Given the description of an element on the screen output the (x, y) to click on. 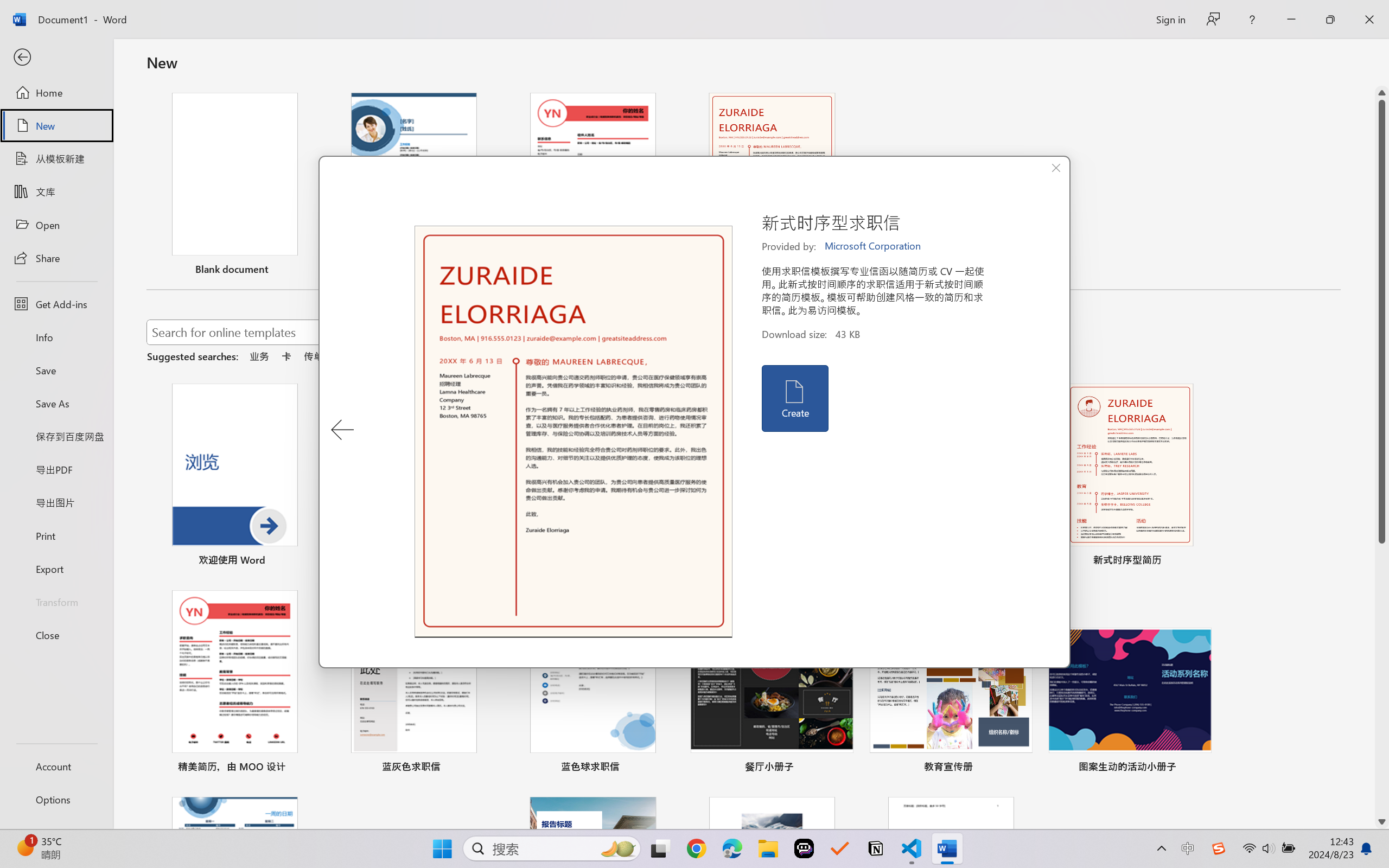
Search for online templates (389, 333)
Transform (56, 601)
Blank document (234, 185)
Line down (1382, 821)
Previous Template (342, 430)
Save As (56, 403)
